Given the description of an element on the screen output the (x, y) to click on. 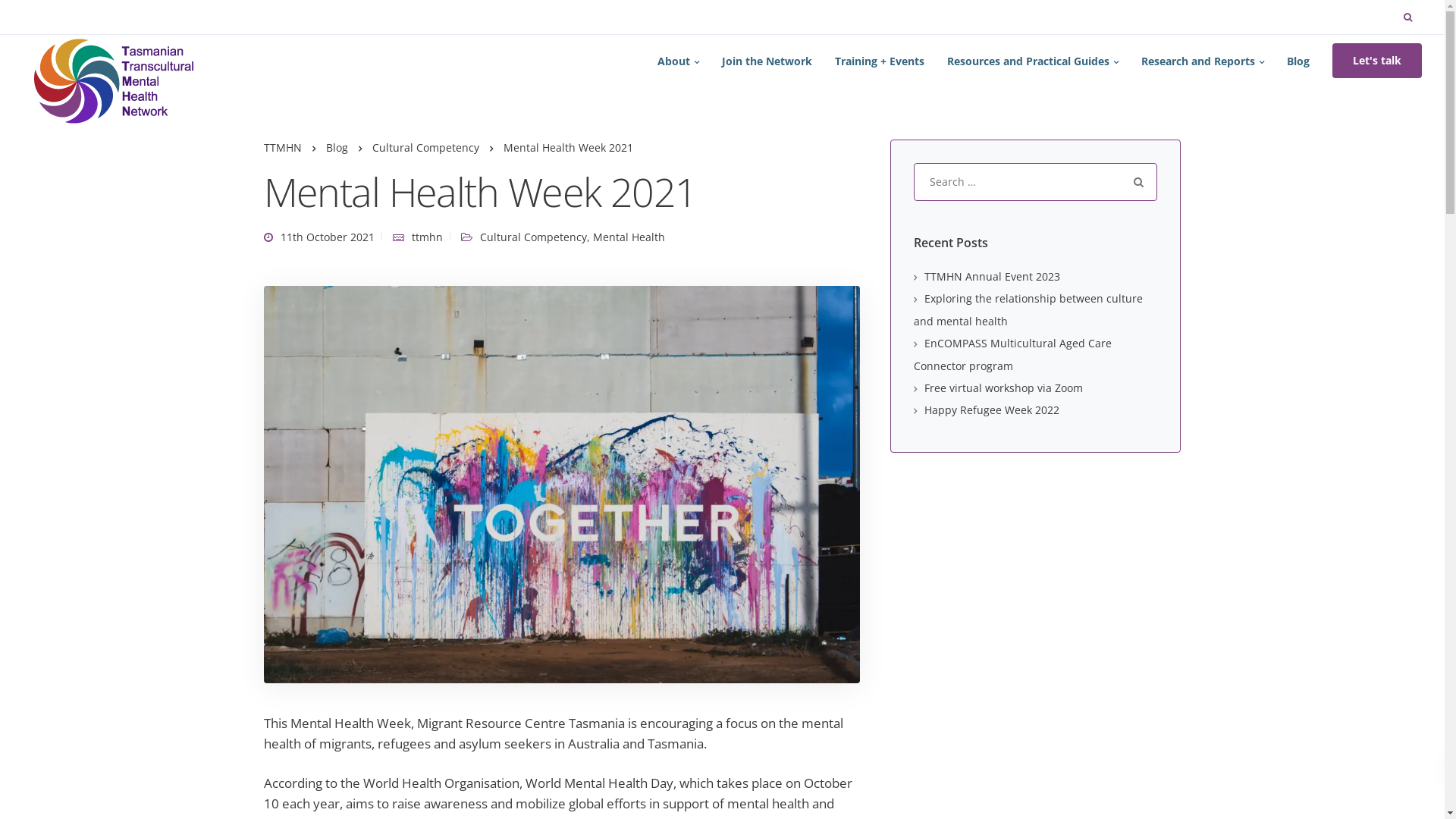
Facebook Element type: text (538, 636)
EnCOMPASS Multicultural Aged Care Connector program Element type: text (1012, 353)
Newsletter Archive Element type: text (546, 544)
Events + Meetings Element type: text (544, 521)
YouTube Element type: text (565, 636)
Mental Health Element type: text (629, 236)
TTMHN Element type: text (282, 147)
Happy Refugee Week 2022 Element type: text (986, 409)
Exploring the relationship between culture and mental health Element type: text (1027, 309)
ttmhn Element type: text (426, 236)
About Element type: text (513, 453)
Free virtual workshop via Zoom Element type: text (342, 559)
Blog Element type: text (337, 147)
Cultural Competency Element type: text (424, 147)
Exploring the relationship between culture and mental health Element type: text (352, 479)
Let's talk Element type: text (1376, 60)
Training + Events Element type: text (879, 60)
About Us Element type: text (286, 635)
Free virtual workshop via Zoom Element type: text (997, 387)
EnCOMPASS Multicultural Aged Care Connector program Element type: text (357, 525)
Research and Reports Element type: text (1202, 60)
Resources and Practical Guides Element type: text (1032, 60)
Join TTMHN Element type: text (293, 658)
Blog Element type: text (1298, 60)
About Element type: text (678, 60)
Join the Network Element type: text (766, 60)
LinkedIn Element type: text (510, 636)
SoundCloud Element type: text (592, 636)
TTMHN Annual Event 2023 Element type: text (986, 276)
Refer to Phoenix Centre Element type: text (323, 681)
Contact Us Element type: text (525, 499)
Mental Health Week 2021 Element type: hover (561, 483)
TTMHN Annual Event 2023 Element type: text (331, 446)
Cultural Competency Element type: text (532, 236)
Join the Network Element type: text (540, 476)
